Given the description of an element on the screen output the (x, y) to click on. 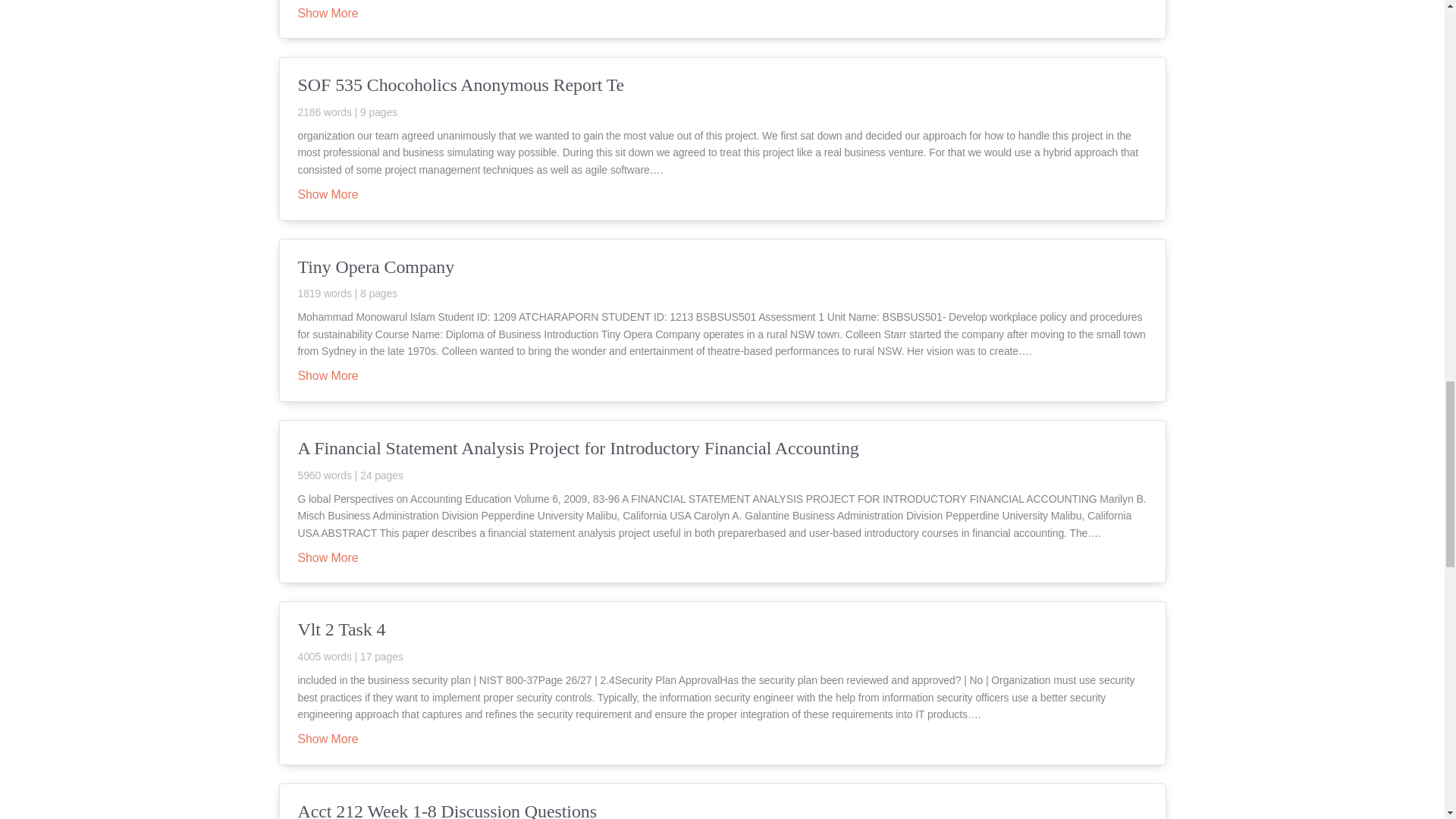
Show More (327, 558)
Show More (327, 376)
Show More (327, 14)
Show More (327, 739)
Show More (327, 195)
Tiny Opera Company (722, 277)
SOF 535 Chocoholics Anonymous Report Te (722, 94)
Vlt 2 Task 4 (722, 639)
Acct 212 Week 1-8 Discussion Questions (722, 809)
